Given the description of an element on the screen output the (x, y) to click on. 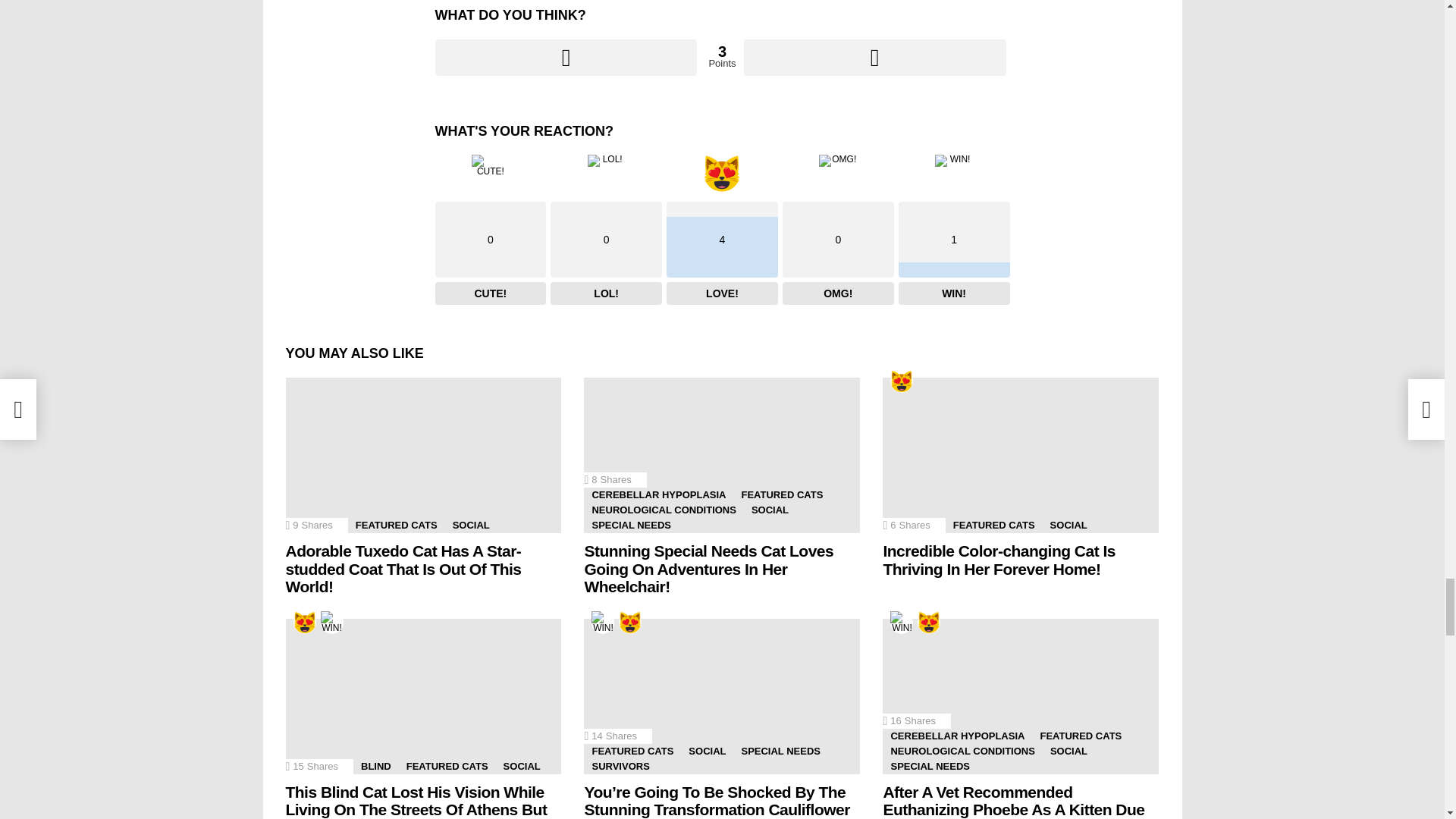
Upvote (566, 57)
LOVE! (900, 381)
Downvote (875, 57)
LOVE! (630, 621)
Upvote (566, 57)
Downvote (875, 57)
WIN! (331, 621)
